Given the description of an element on the screen output the (x, y) to click on. 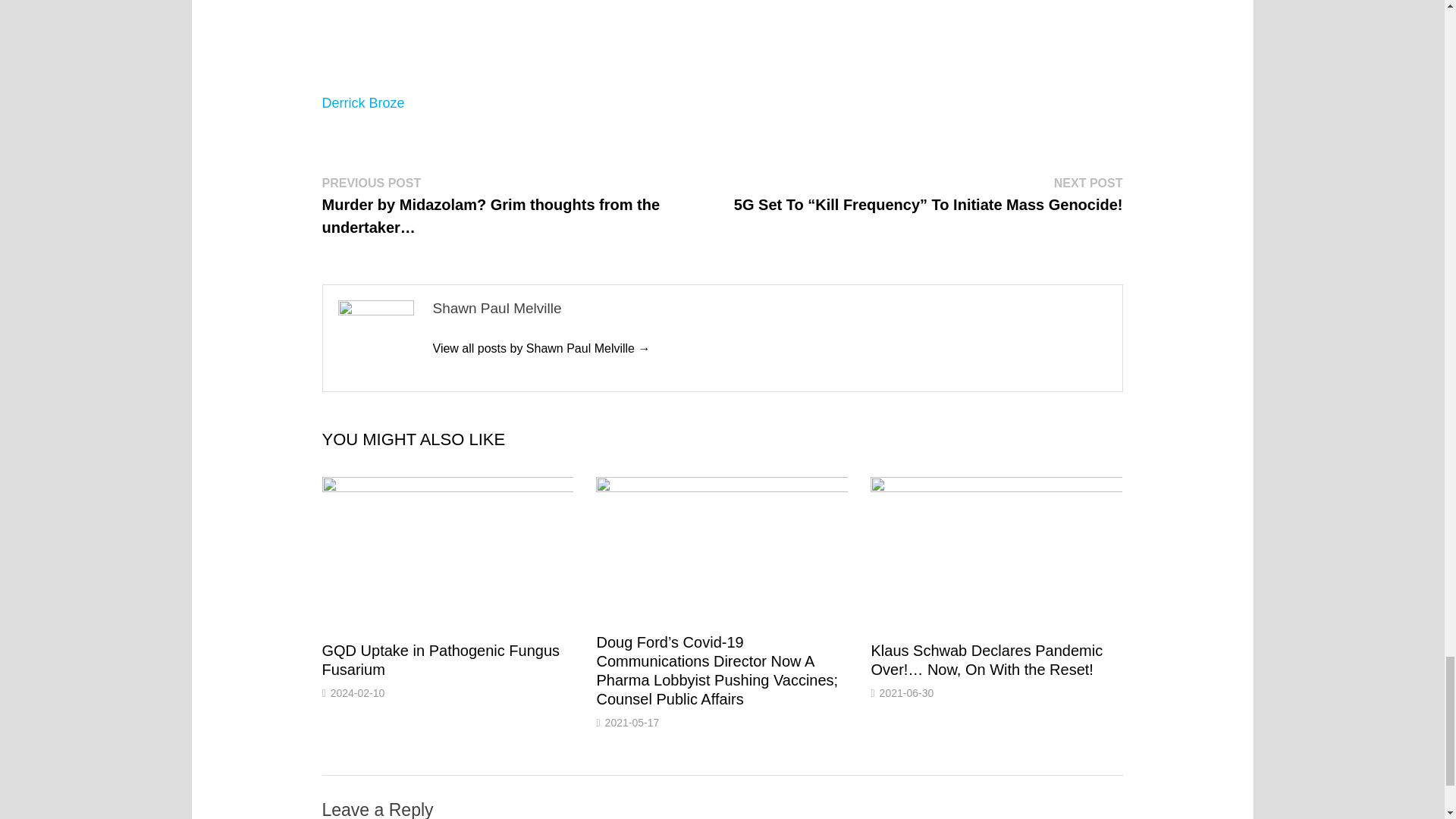
GQD Uptake in Pathogenic Fungus Fusarium (440, 660)
Shawn Paul Melville (540, 348)
